Given the description of an element on the screen output the (x, y) to click on. 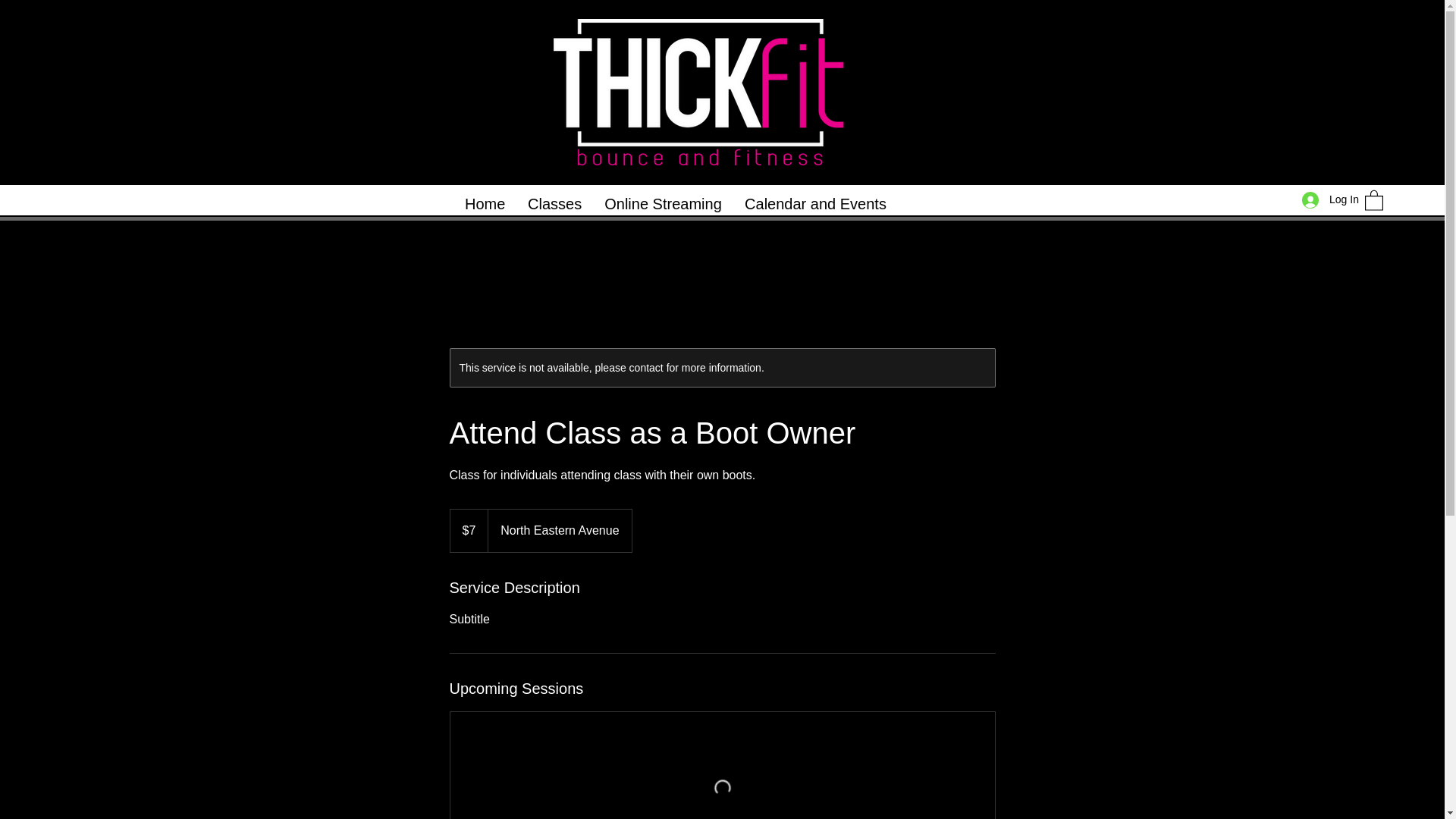
Home (484, 203)
Classes (554, 203)
Log In (1325, 199)
Online Streaming (662, 203)
Get In Touch (1337, 31)
Calendar and Events (815, 203)
